Given the description of an element on the screen output the (x, y) to click on. 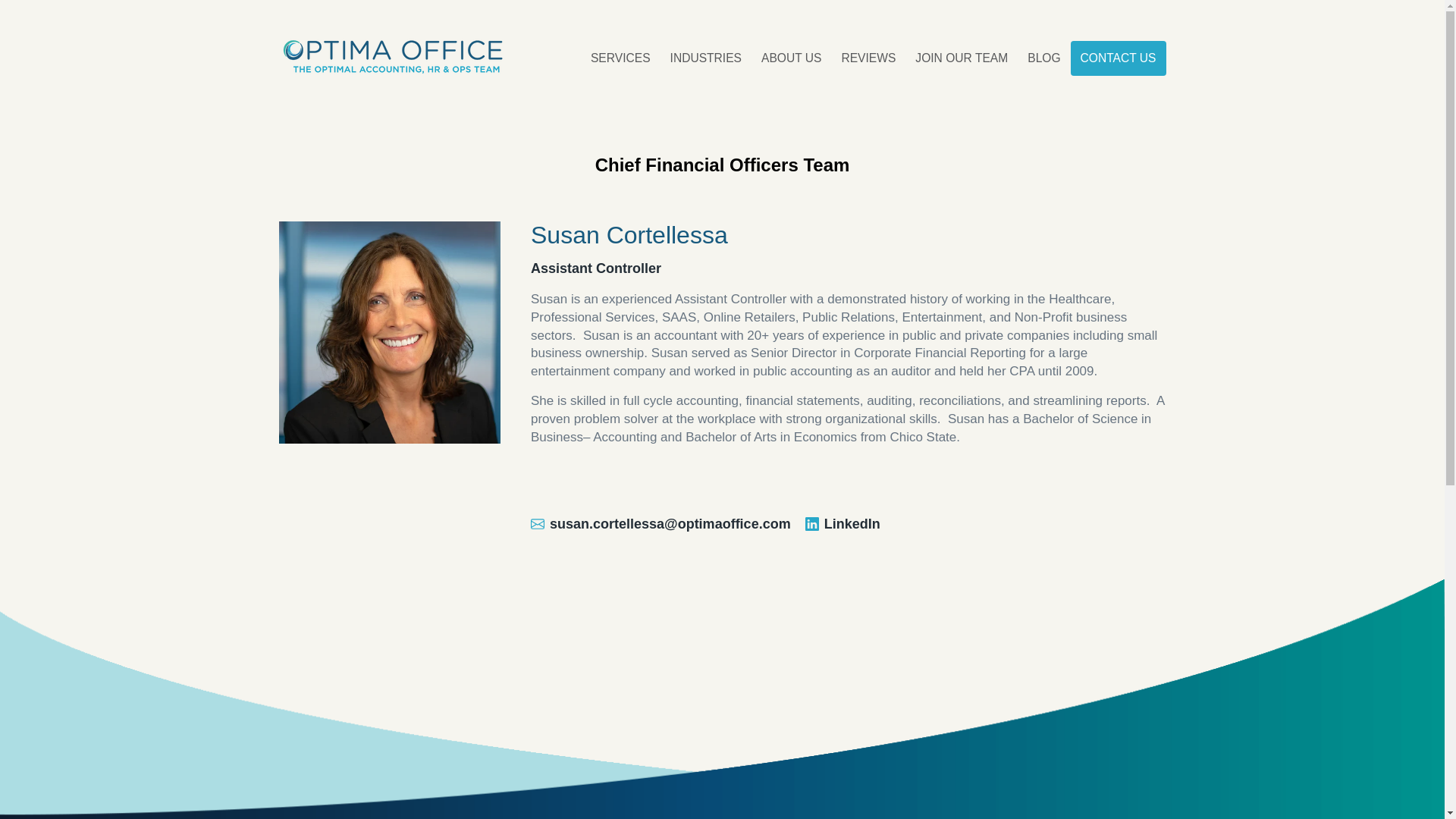
LinkedIn (842, 524)
INDUSTRIES (706, 58)
JOIN OUR TEAM (961, 58)
SERVICES (620, 58)
BLOG (1043, 58)
REVIEWS (868, 58)
CONTACT US (1118, 58)
ABOUT US (791, 58)
